Given the description of an element on the screen output the (x, y) to click on. 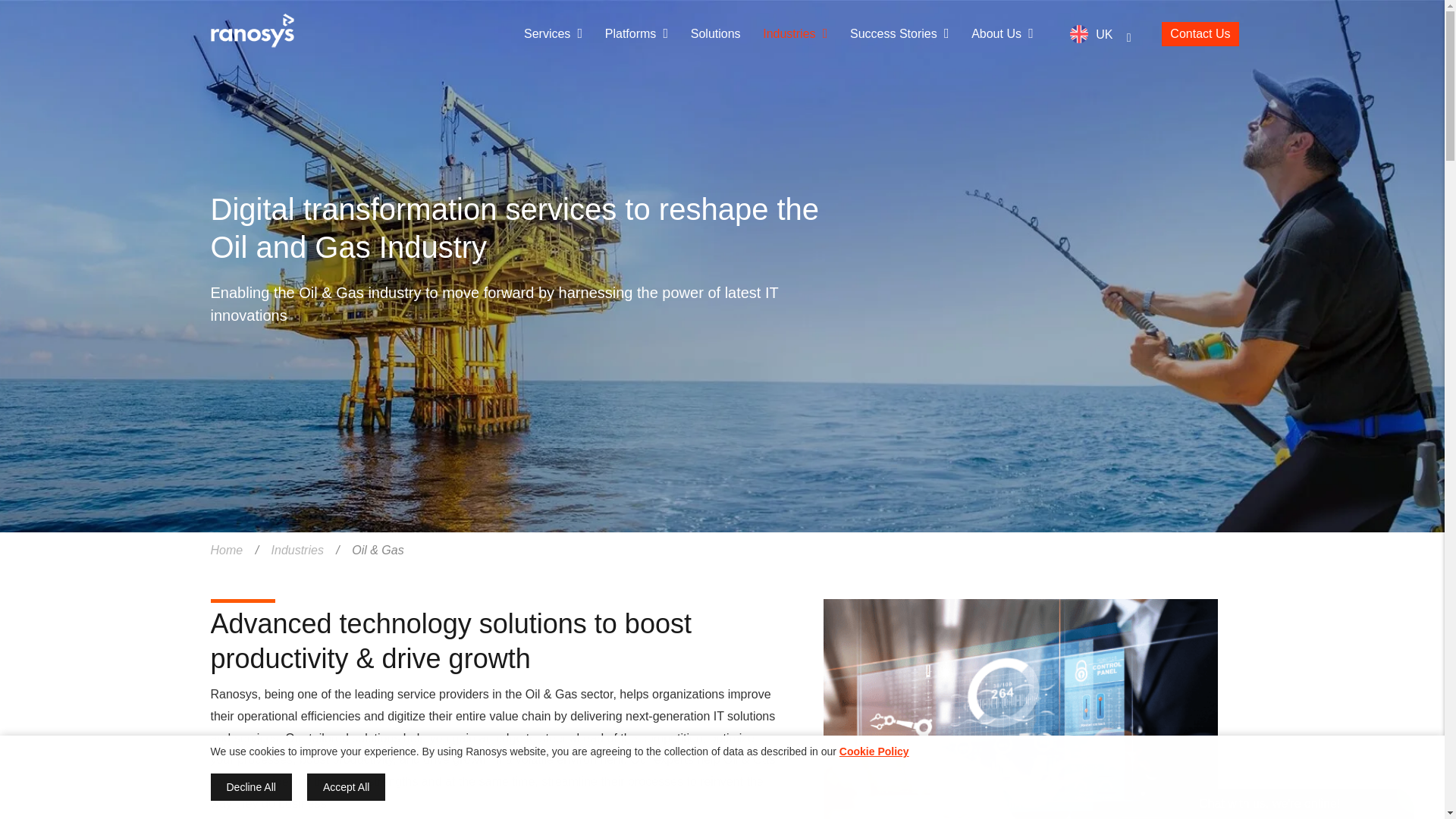
Home (252, 34)
Platforms (641, 33)
Services (557, 33)
